Given the description of an element on the screen output the (x, y) to click on. 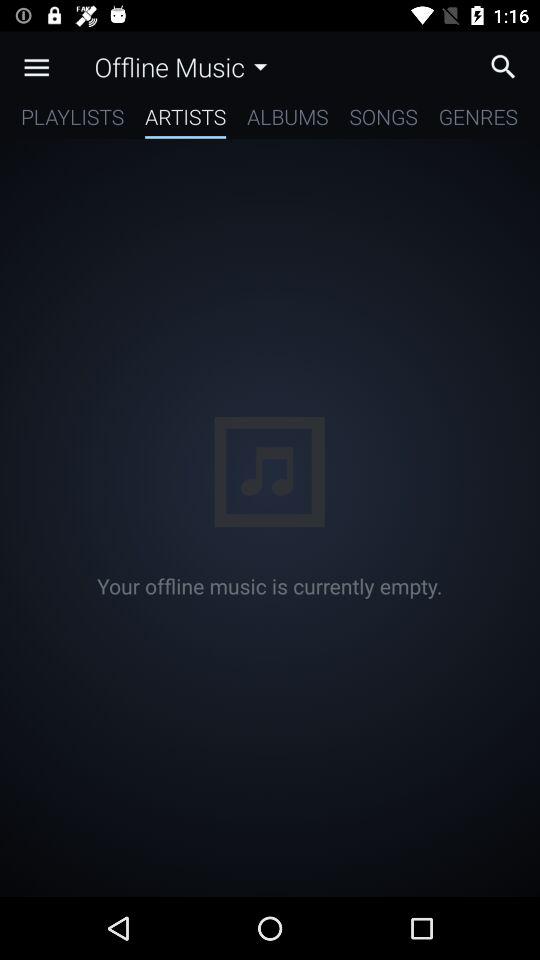
search (508, 66)
